Given the description of an element on the screen output the (x, y) to click on. 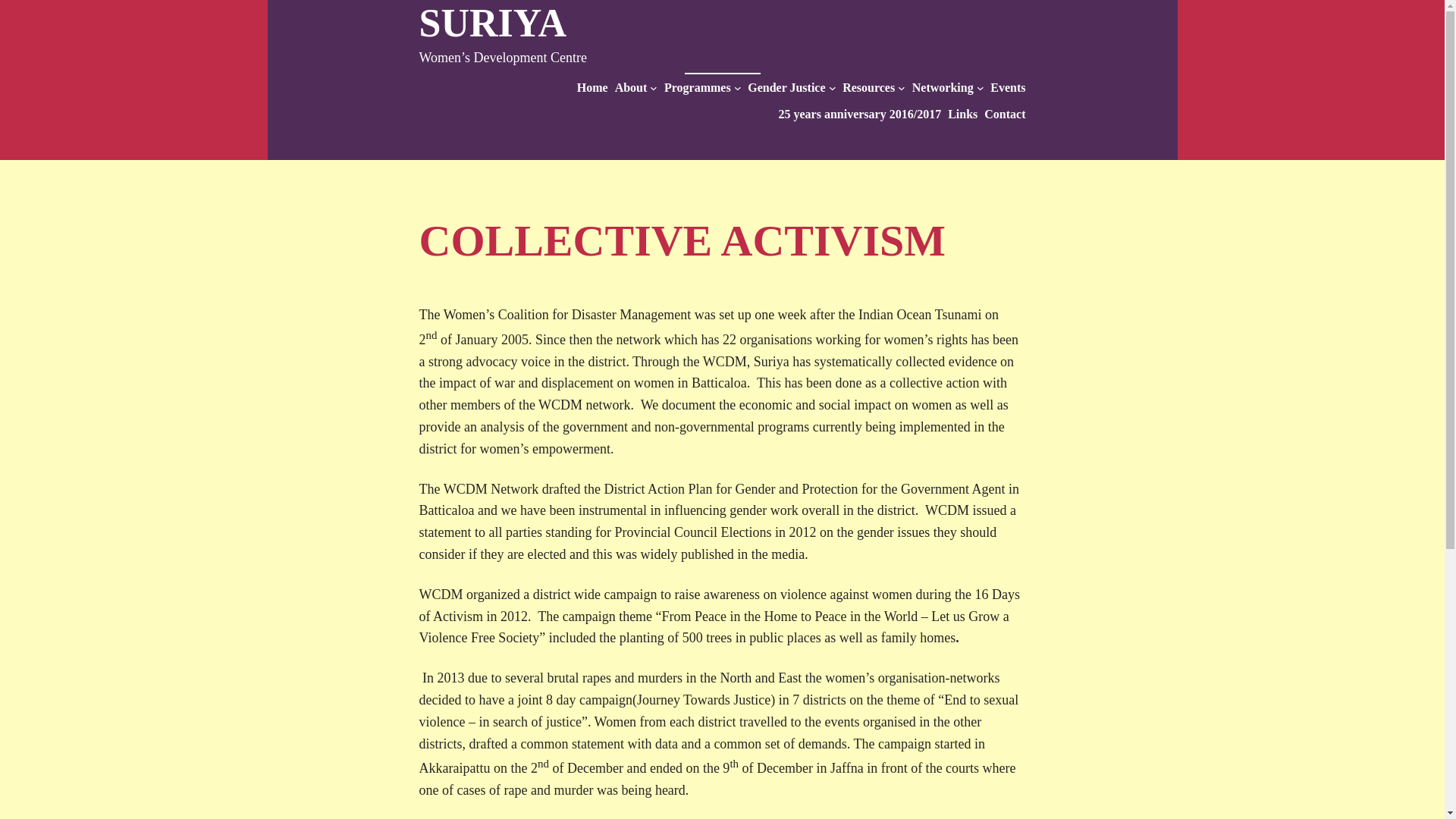
About (630, 87)
Programmes (696, 87)
Gender Justice (786, 87)
Events (1007, 87)
Networking (943, 87)
Home (592, 87)
Contact (1004, 114)
Links (961, 114)
Resources (869, 87)
